Given the description of an element on the screen output the (x, y) to click on. 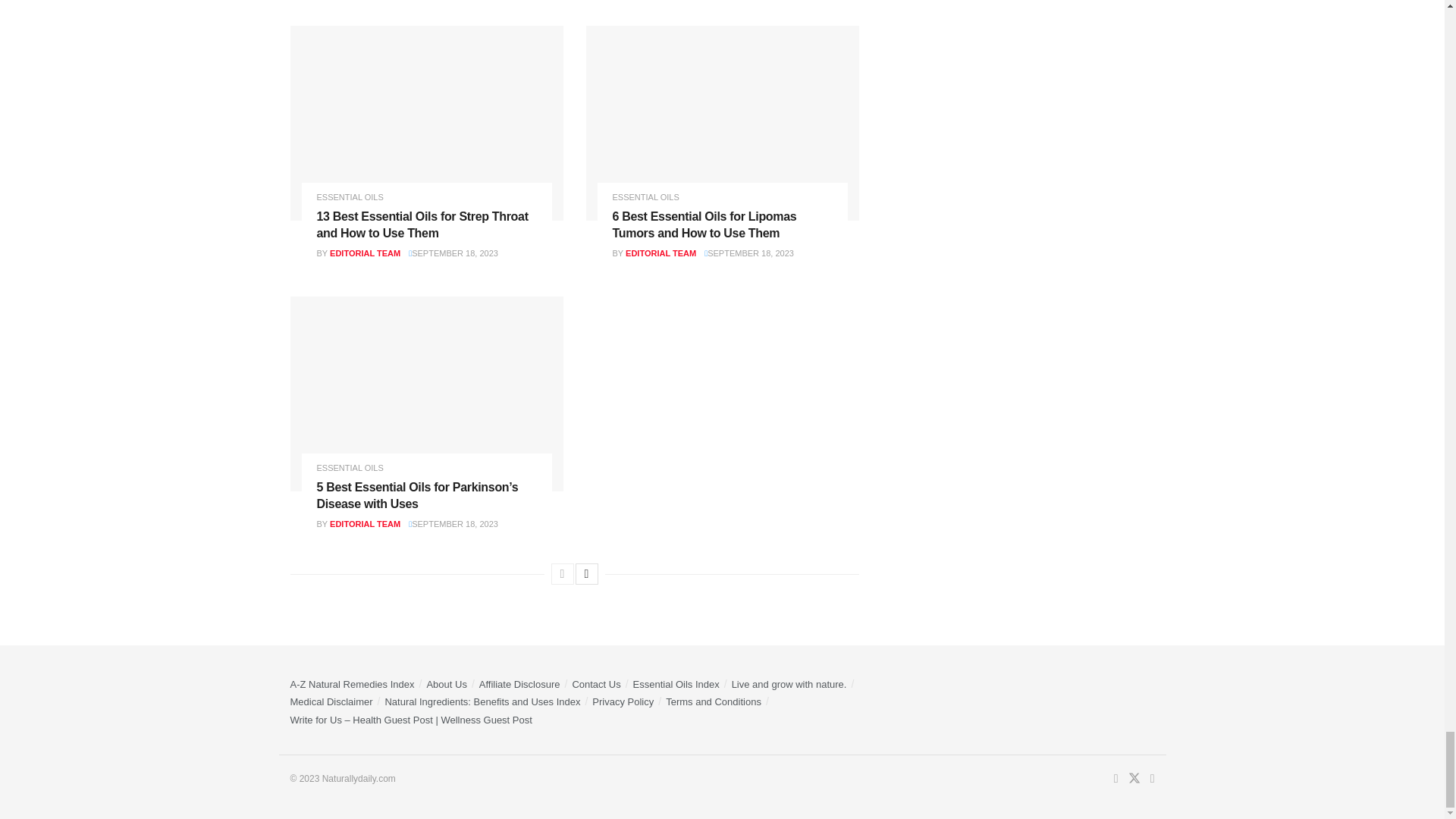
Previous (561, 573)
Next (585, 573)
